Given the description of an element on the screen output the (x, y) to click on. 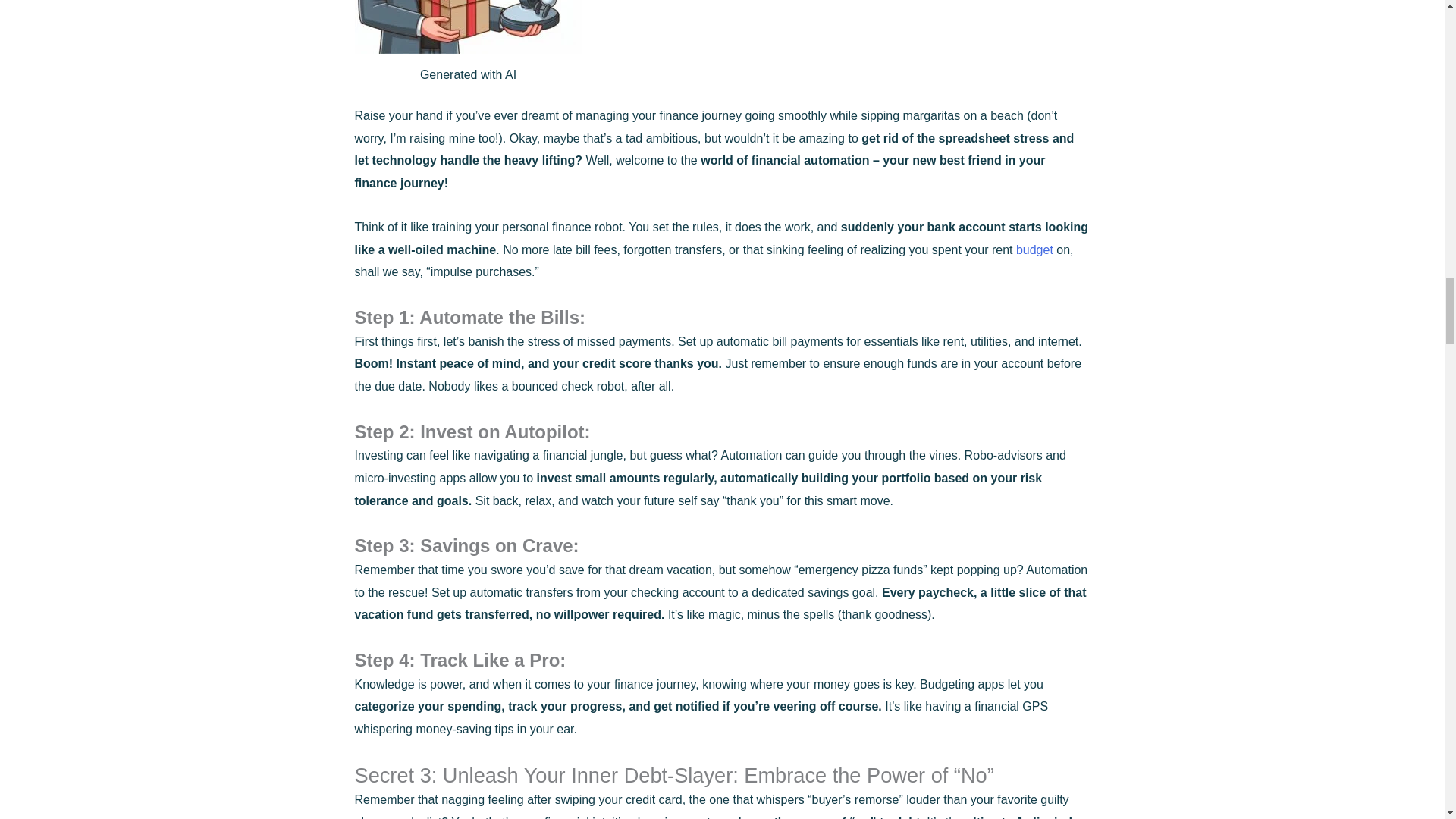
budget (1034, 249)
Finance Journey: 7 Shocking Tricks They Don't Tell You 3 (468, 27)
